Given the description of an element on the screen output the (x, y) to click on. 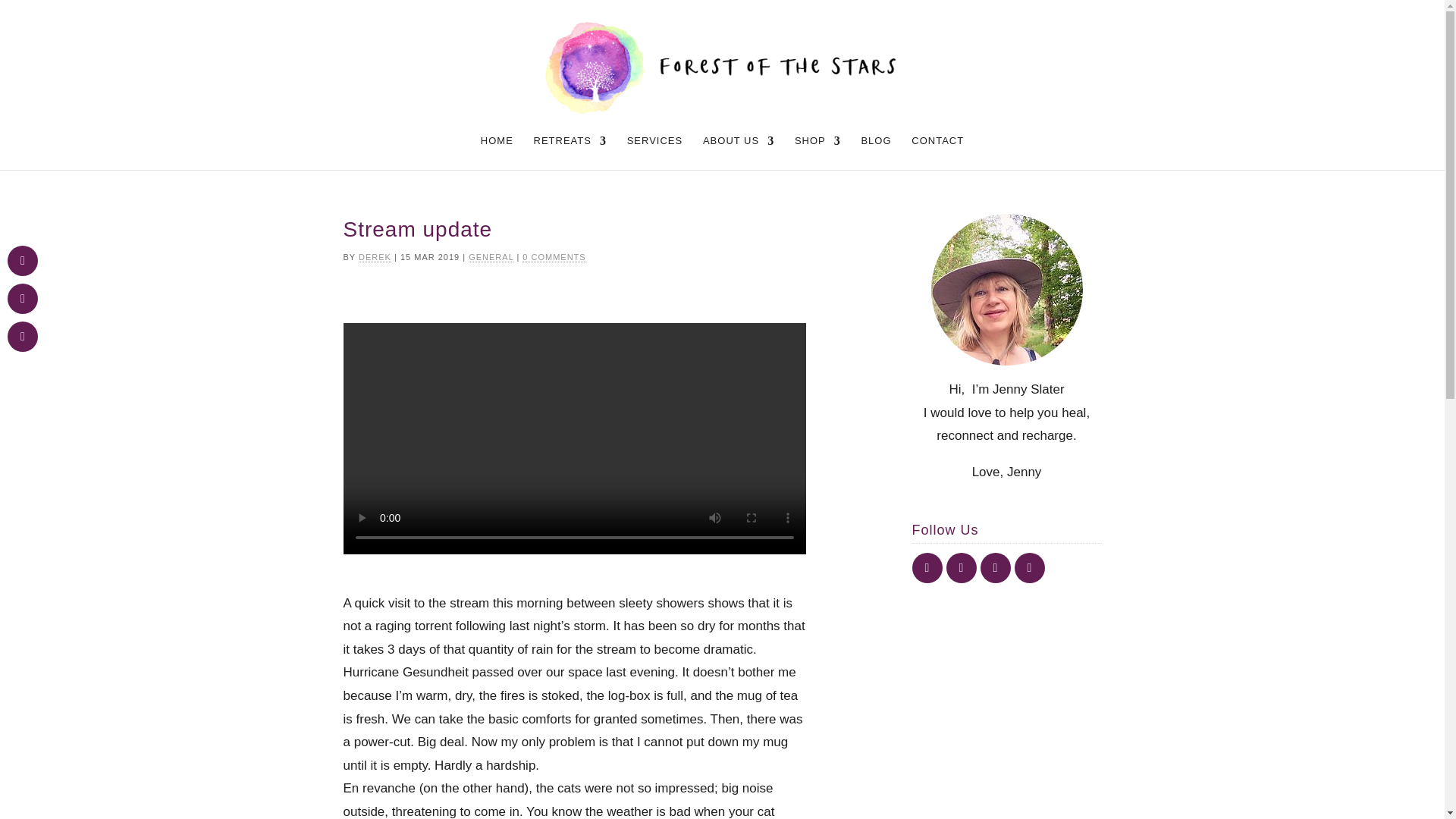
SHOP (817, 152)
RETREATS (570, 152)
CONTACT (937, 152)
HOME (496, 152)
ABOUT US (738, 152)
DEREK (374, 257)
Posts by Derek (374, 257)
0 COMMENTS (553, 257)
GENERAL (490, 257)
SERVICES (654, 152)
